Given the description of an element on the screen output the (x, y) to click on. 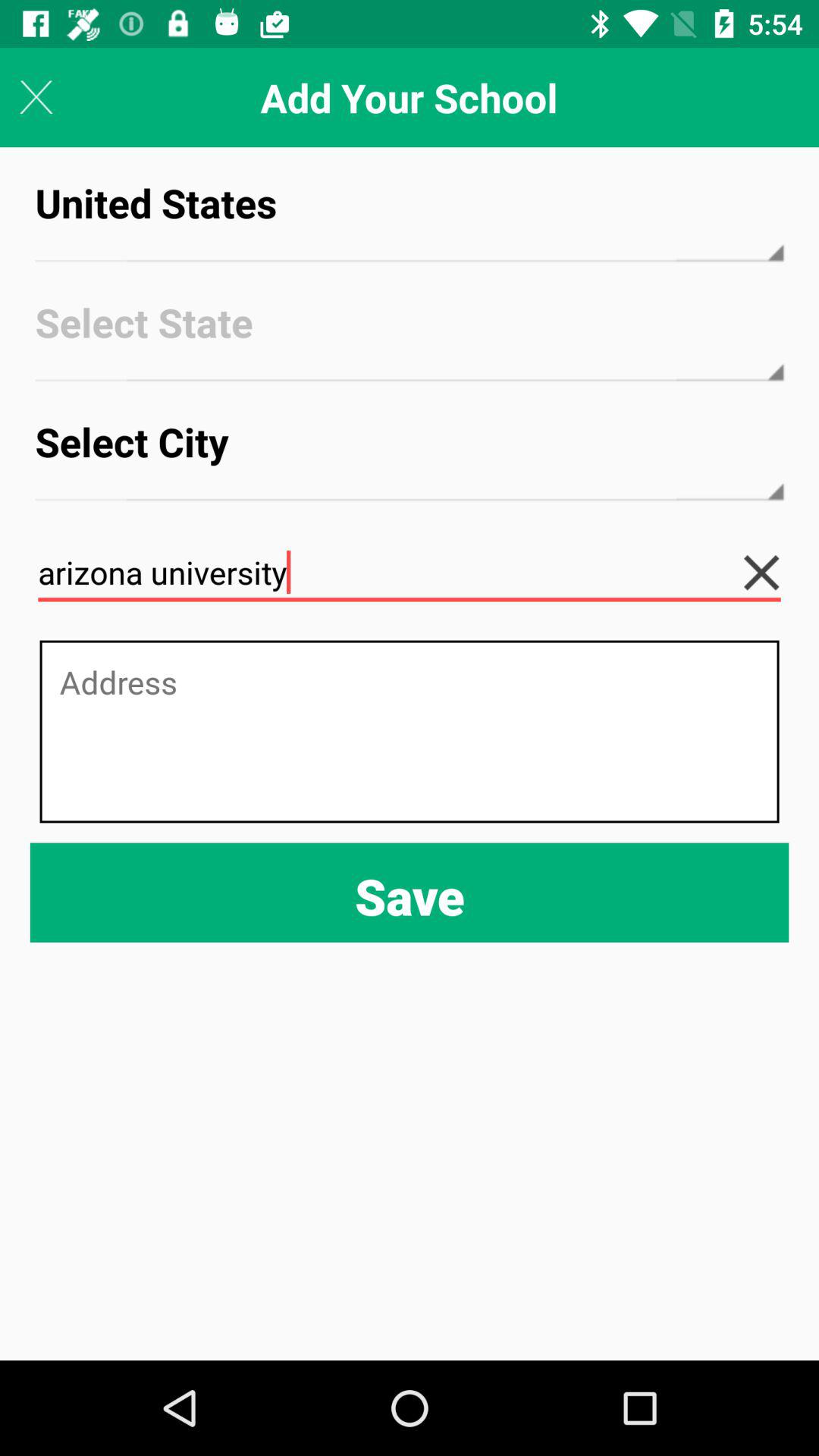
search school (773, 572)
